Given the description of an element on the screen output the (x, y) to click on. 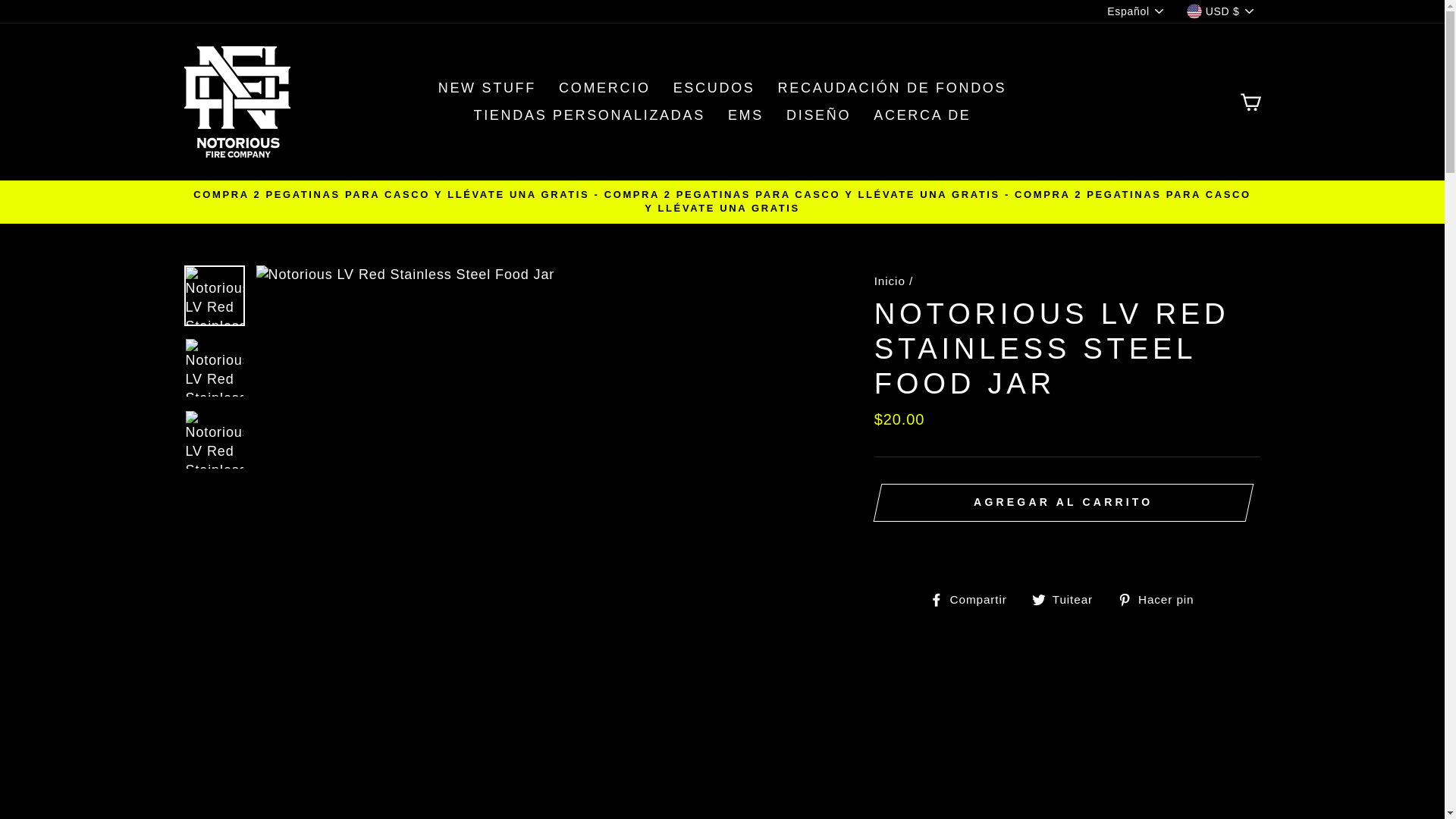
Pinear en Pinterest (1161, 599)
Compartir en Facebook (973, 599)
Volver a la portada (890, 280)
Tuitear en Twitter (1067, 599)
